Given the description of an element on the screen output the (x, y) to click on. 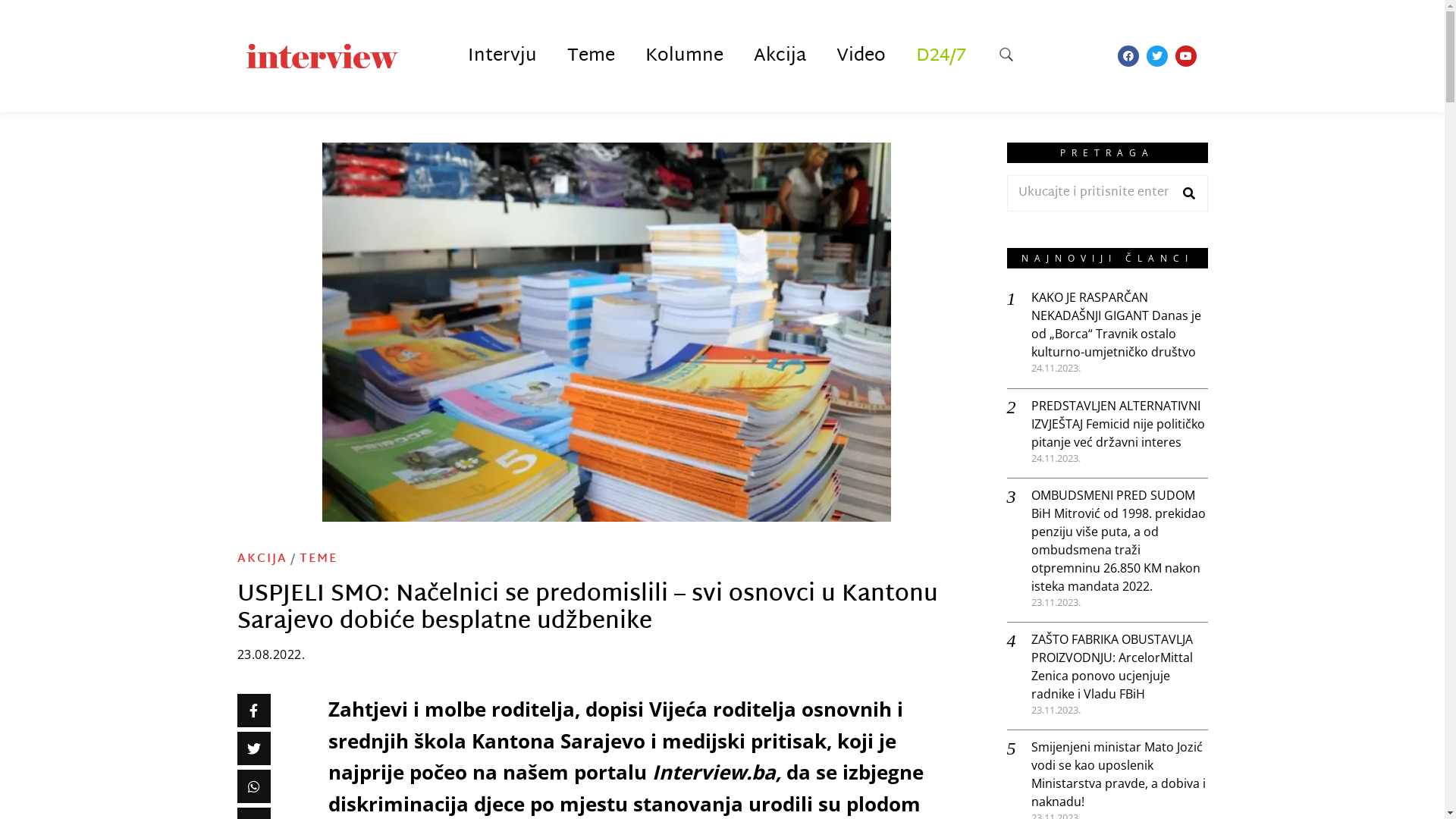
Go Element type: hover (1188, 193)
D24/7 Element type: text (940, 55)
Akcija Element type: text (779, 55)
Kolumne Element type: text (683, 55)
AKCIJA Element type: text (261, 559)
logo-interview-red Element type: hover (321, 55)
Teme Element type: text (591, 55)
Intervju Element type: text (501, 55)
Video Element type: text (860, 55)
TEME Element type: text (317, 559)
